Given the description of an element on the screen output the (x, y) to click on. 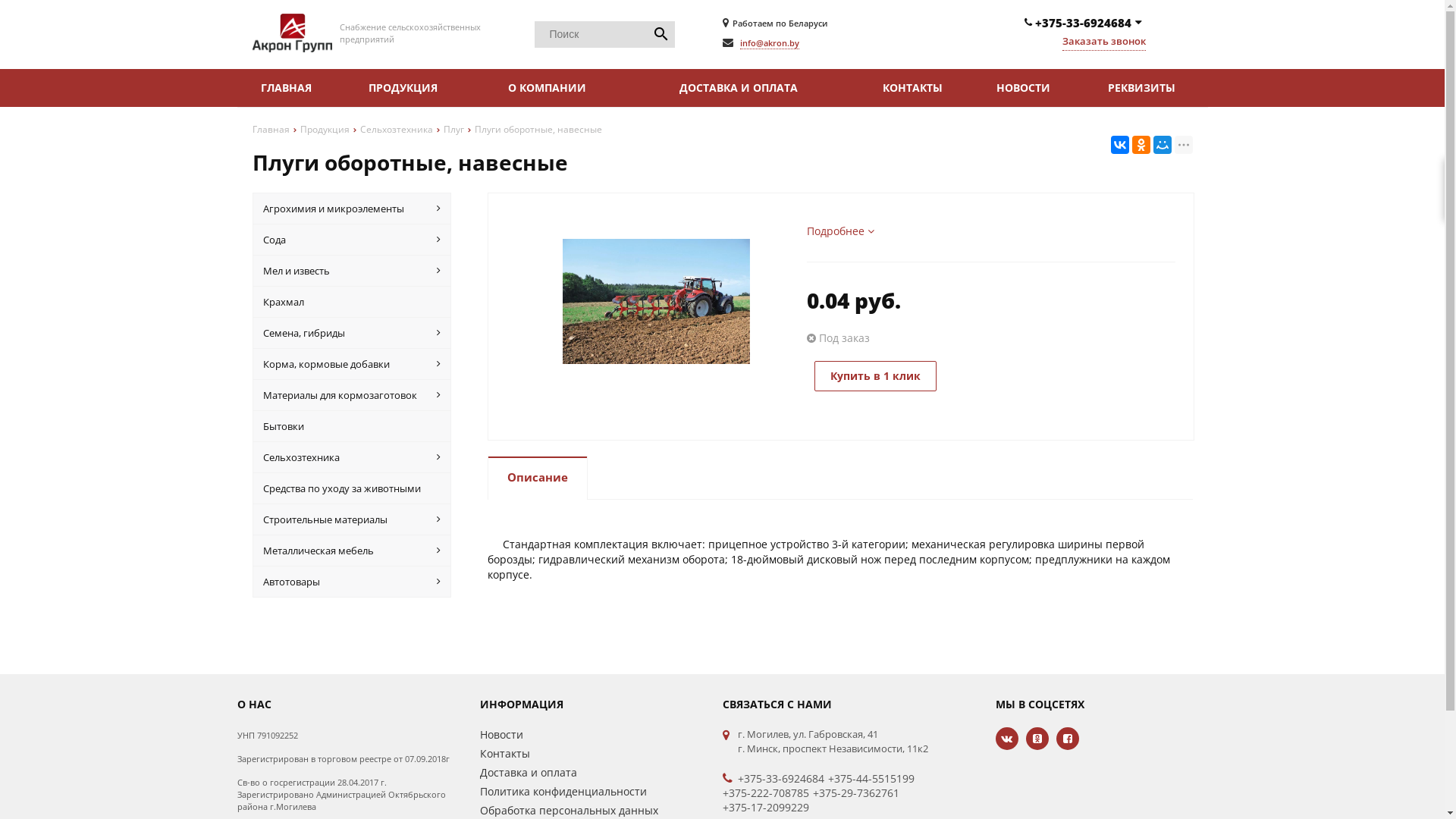
+375-222-708785 Element type: text (764, 793)
+375-44-5515199 Element type: text (871, 778)
+375-29-7362761 Element type: text (855, 793)
info@akron.by Element type: text (769, 43)
+375-17-2099229 Element type: text (764, 807)
search Element type: text (660, 34)
+375-33-6924684 Element type: text (780, 778)
